Given the description of an element on the screen output the (x, y) to click on. 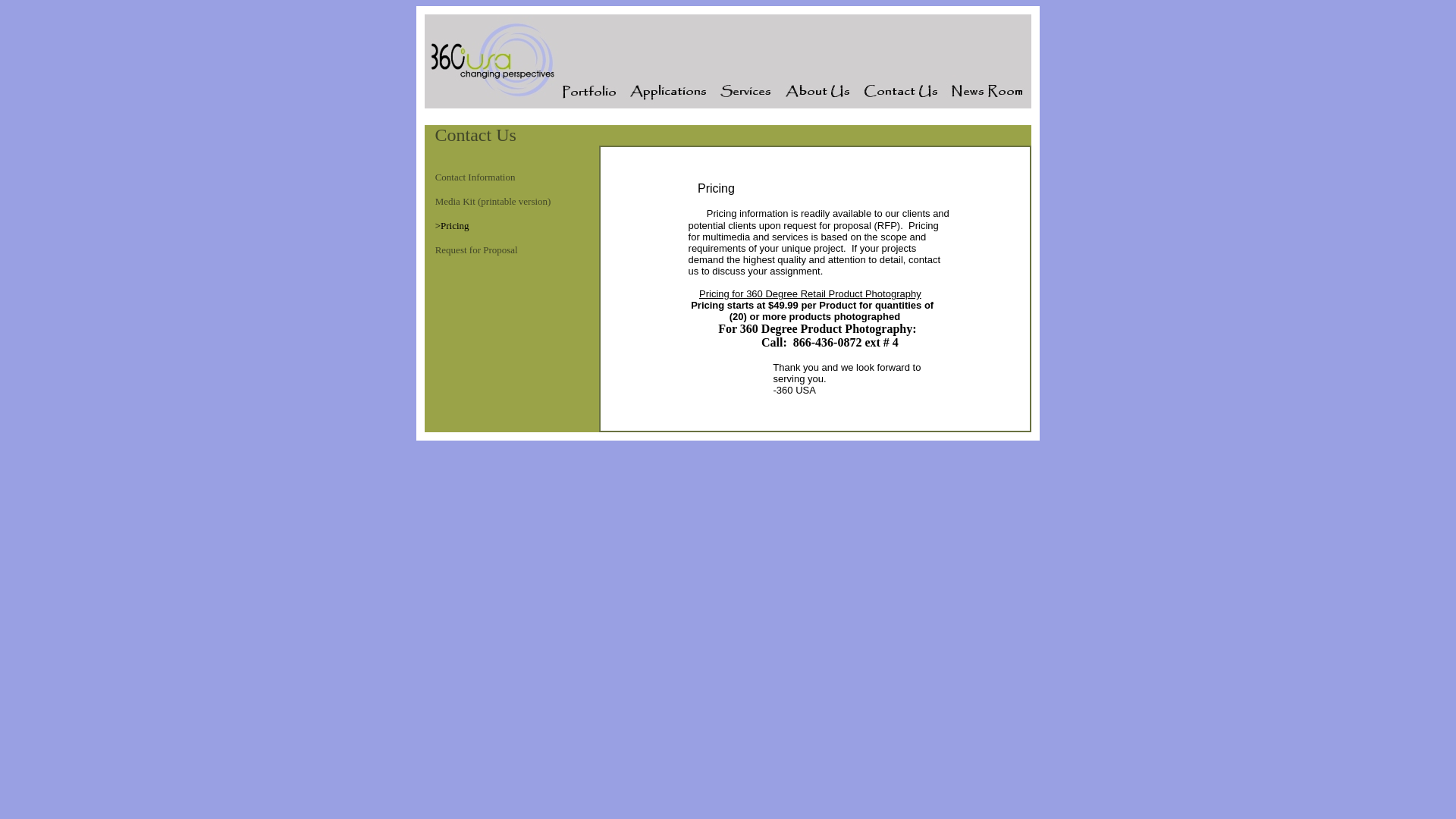
Media Kit (printable version) Element type: text (493, 201)
Contact Information Element type: text (475, 176)
Request for Proposal Element type: text (476, 249)
